Given the description of an element on the screen output the (x, y) to click on. 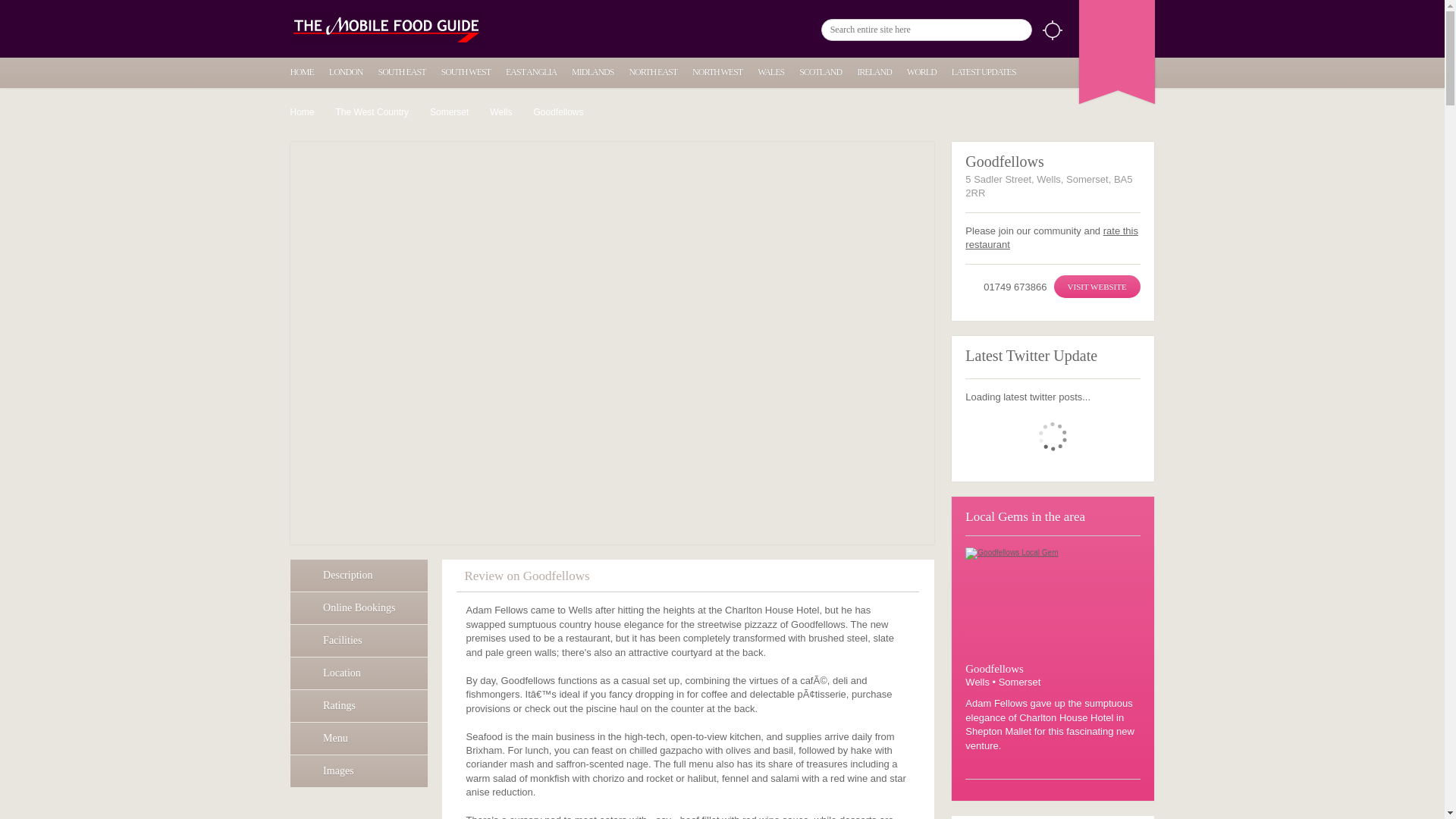
The West Country (377, 112)
MIDLANDS (592, 71)
search (1020, 29)
Images (358, 771)
Somerset (454, 112)
Visit Goodfellows Website (1097, 286)
The Mobile Food Guide - Home (385, 28)
Nearby Restaurants (1051, 29)
Description (358, 575)
Location (358, 673)
